Given the description of an element on the screen output the (x, y) to click on. 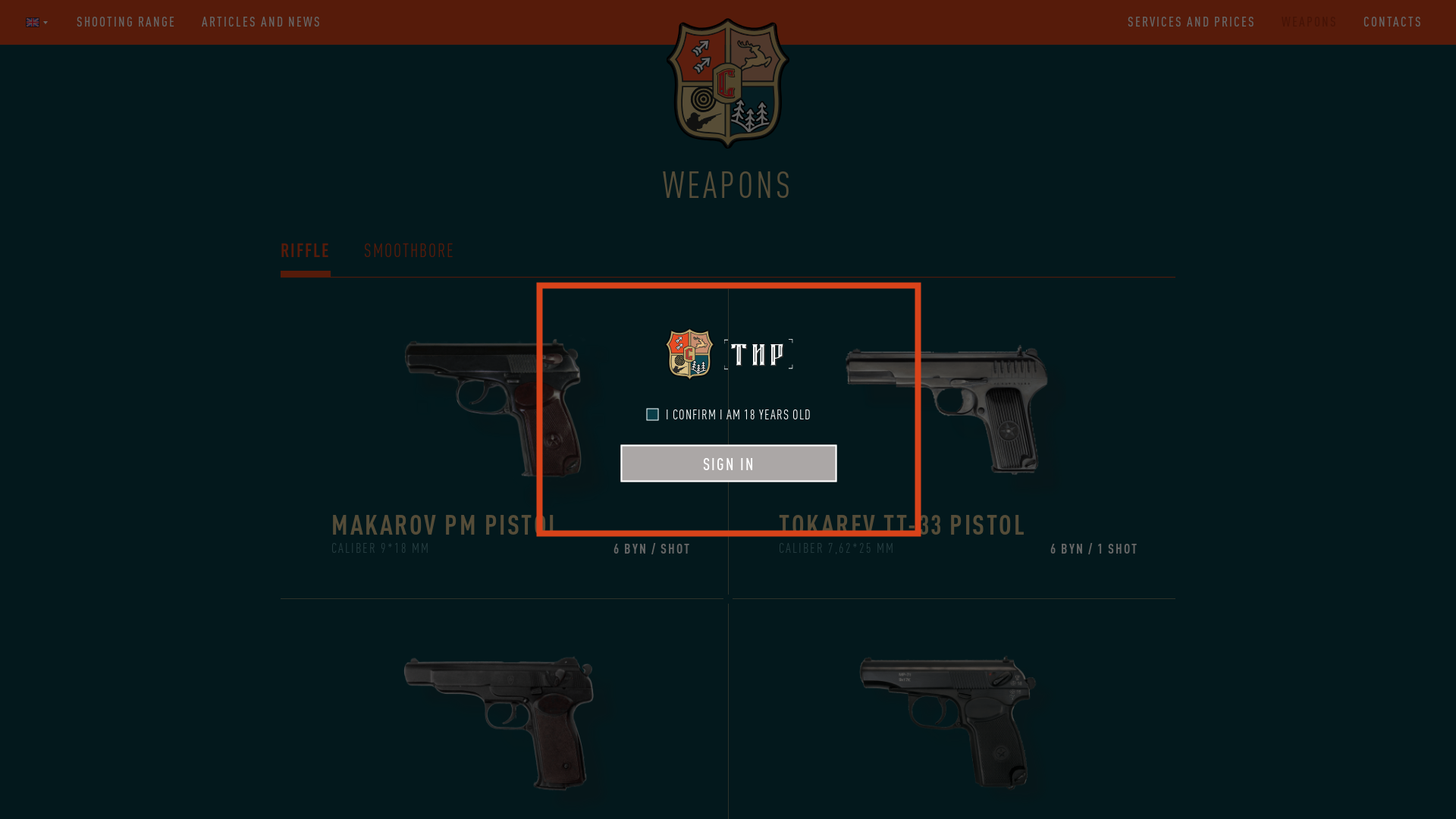
SIGN IN Element type: text (728, 462)
CONTACTS Element type: text (1392, 21)
ARTICLES AND NEWS Element type: text (261, 21)
SERVICES AND PRICES Element type: text (1191, 21)
WEAPONS Element type: text (1309, 21)
RIFFLE Element type: text (305, 257)
SHOOTING RANGE Element type: text (125, 21)
SMOOTHBORE Element type: text (409, 257)
